Given the description of an element on the screen output the (x, y) to click on. 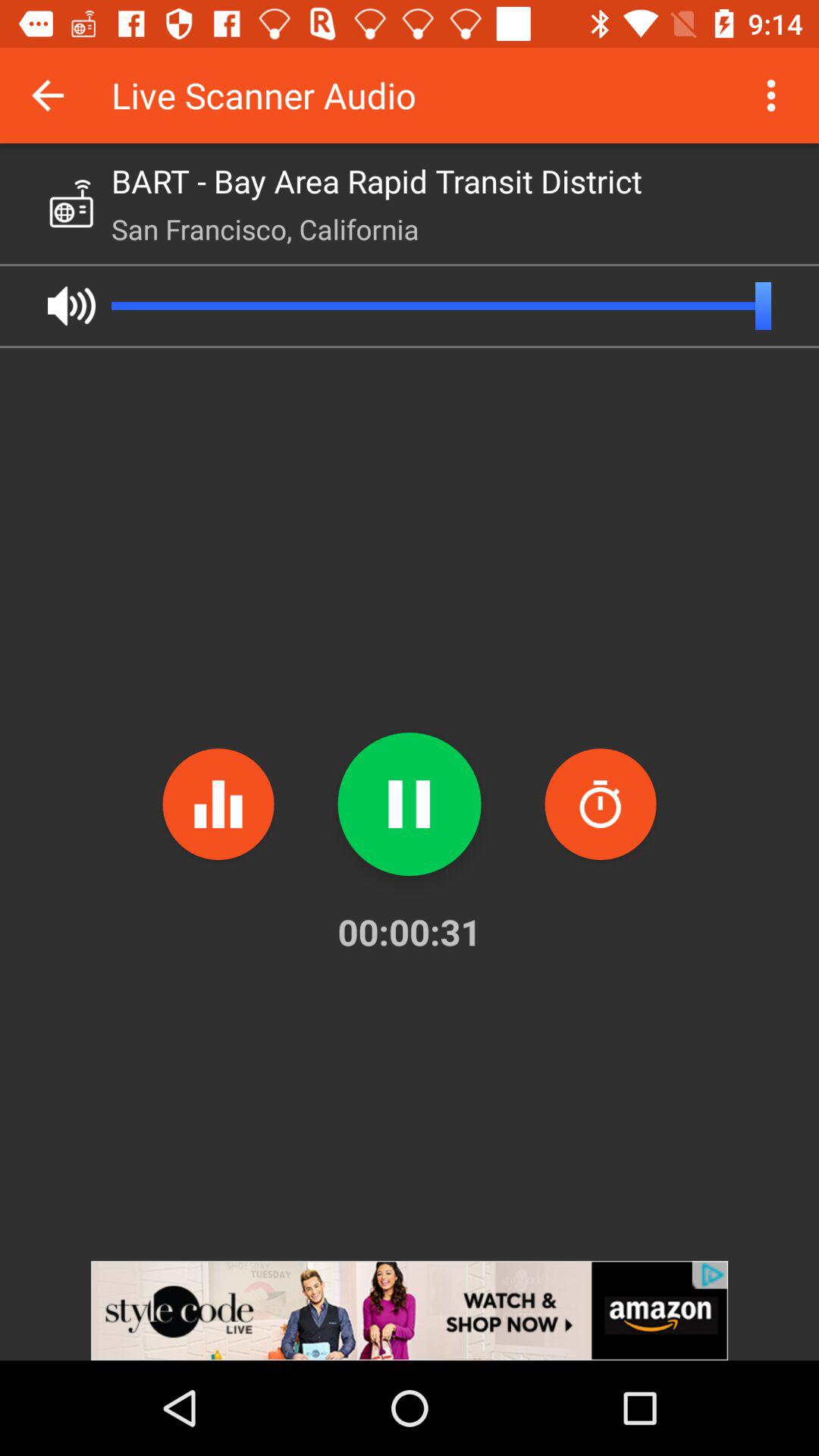
go back (47, 95)
